Given the description of an element on the screen output the (x, y) to click on. 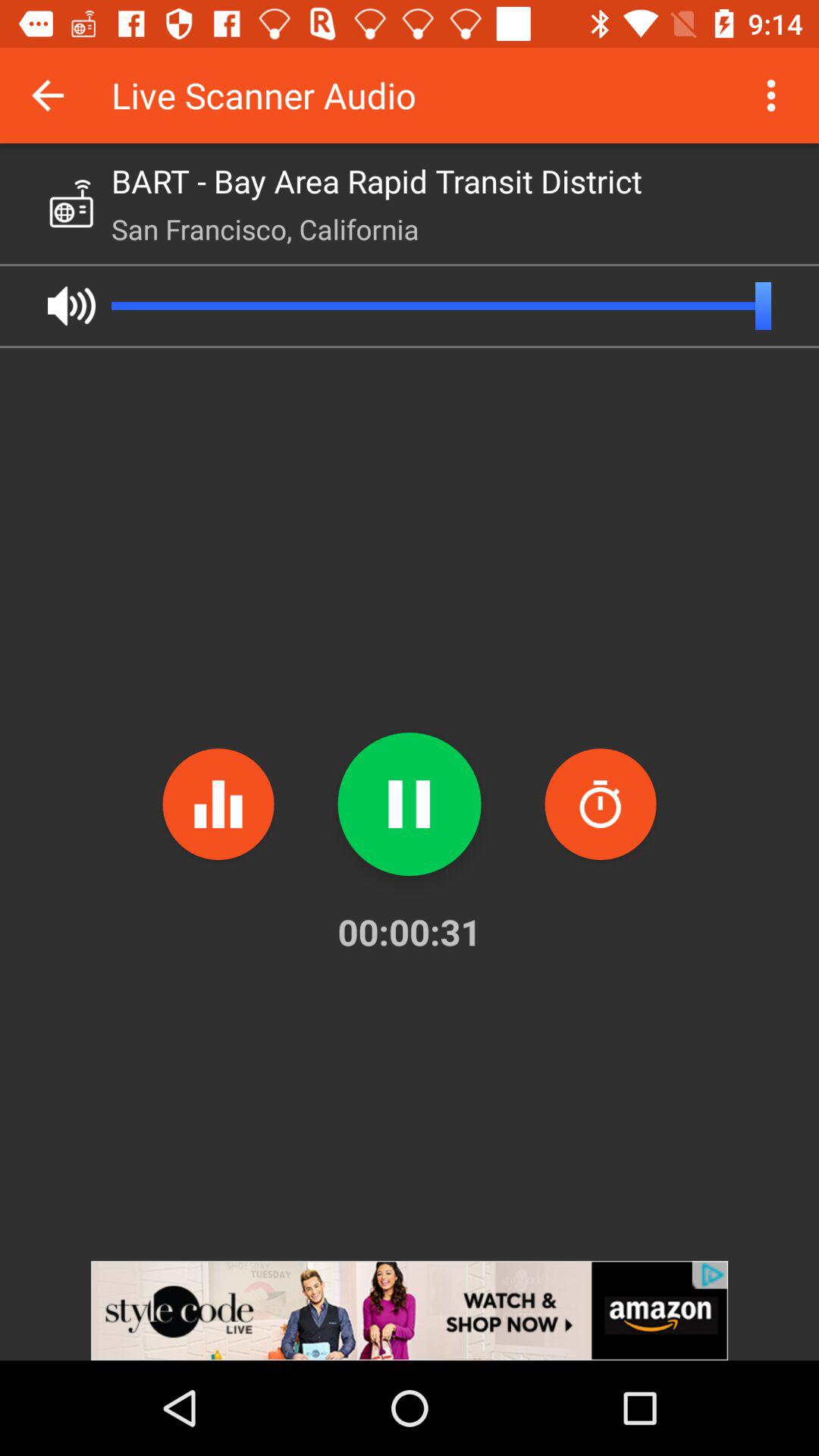
go back (47, 95)
